Given the description of an element on the screen output the (x, y) to click on. 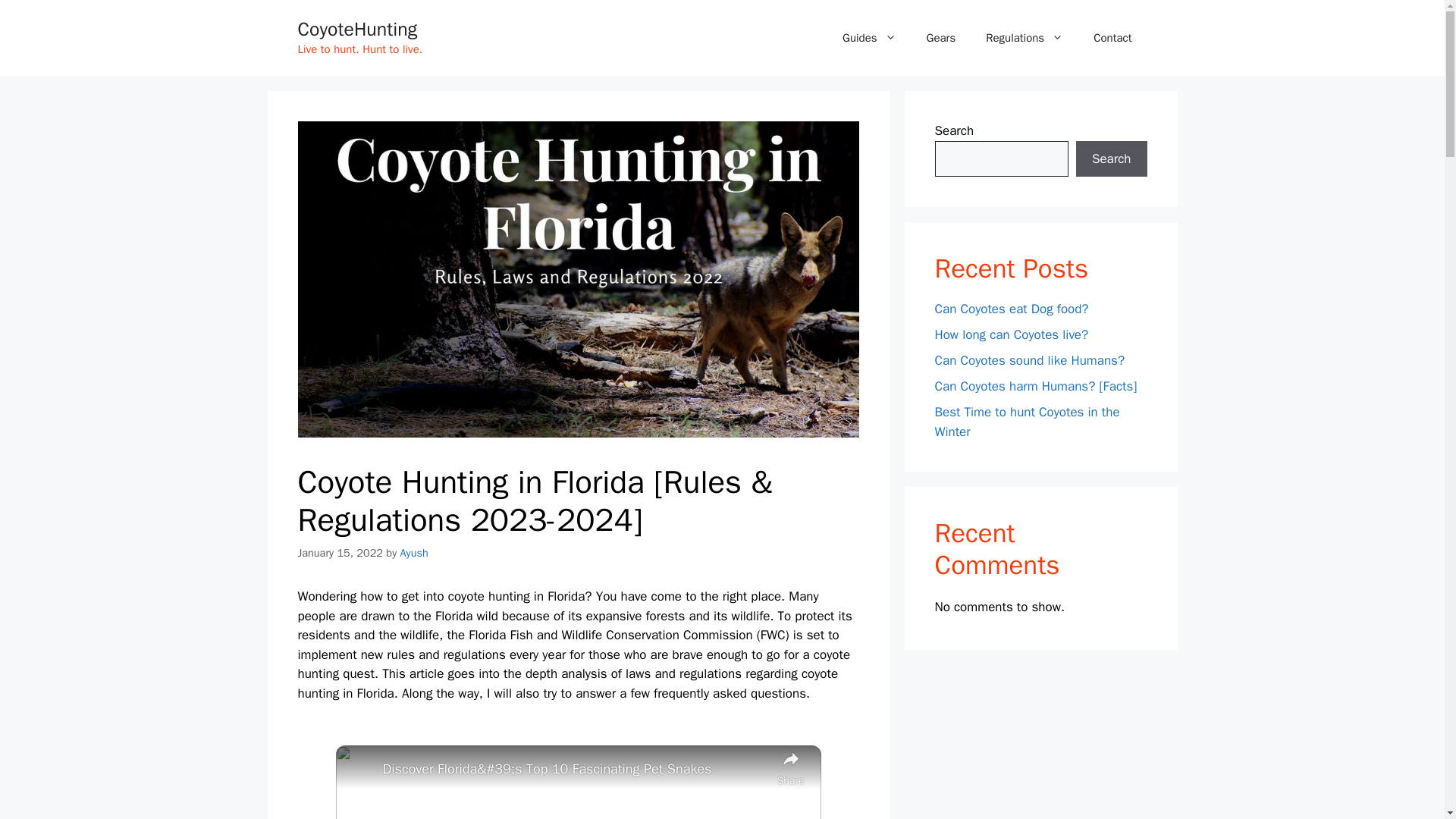
Guides (869, 37)
Gears (941, 37)
Contact (1112, 37)
Search (1111, 158)
Can Coyotes eat Dog food? (1010, 308)
Ayush (414, 552)
Best Time to hunt Coyotes in the Winter (1026, 421)
View all posts by Ayush (414, 552)
Can Coyotes sound like Humans? (1029, 360)
How long can Coyotes live? (1010, 334)
